Given the description of an element on the screen output the (x, y) to click on. 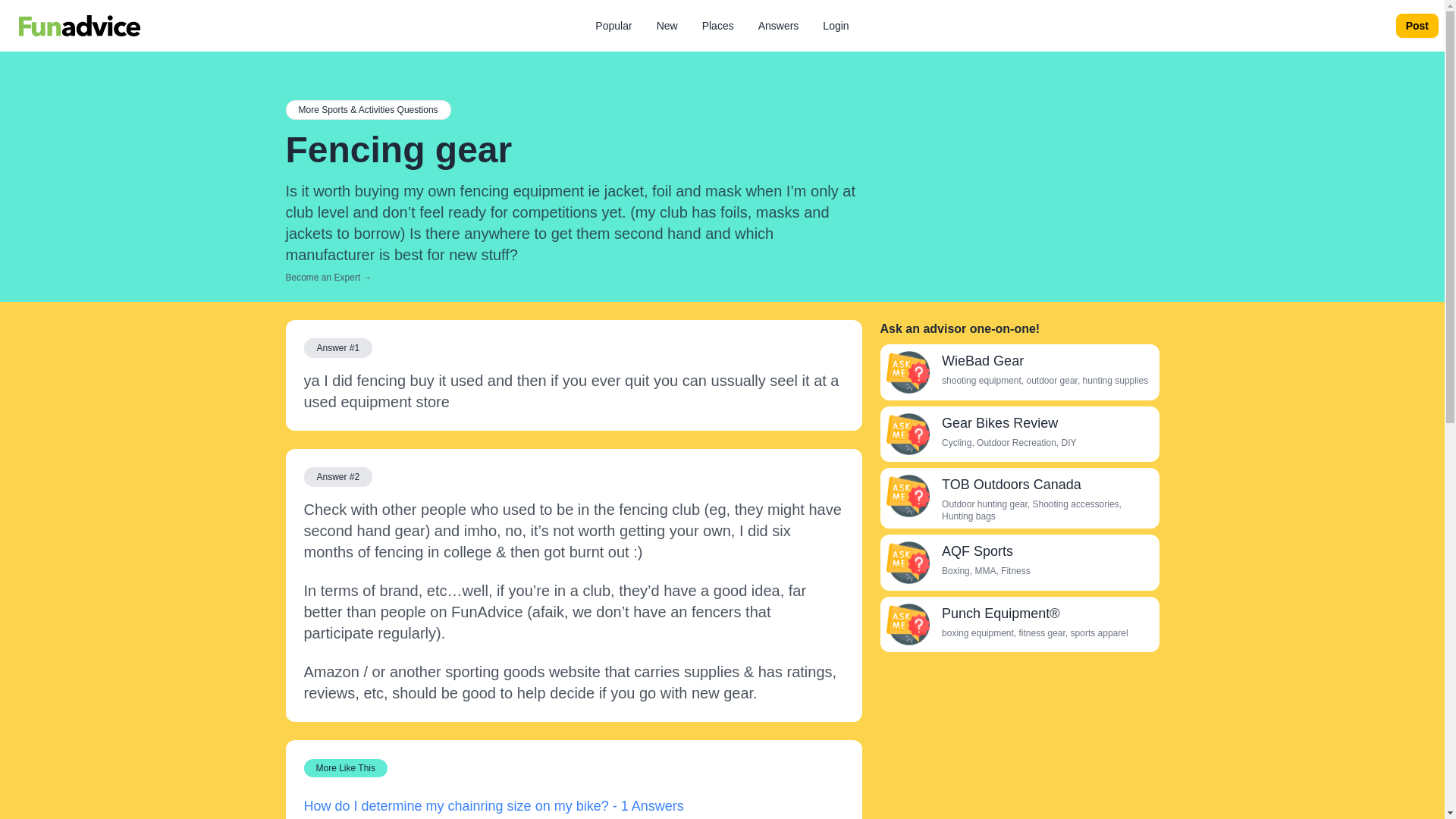
Gear Bikes Review (1000, 422)
AQF Sports (977, 550)
How do I determine my chainring size on my bike? - 1 Answers (492, 806)
Post (1417, 25)
Funadvice Home (78, 25)
TOB Outdoors Canada (1011, 484)
WieBad Gear (907, 371)
Popular (613, 25)
Places (717, 25)
WieBad Gear (982, 360)
Login (835, 25)
Answers (777, 25)
Gear Bikes Review (907, 434)
New (667, 25)
TOB Outdoors Canada (907, 495)
